Given the description of an element on the screen output the (x, y) to click on. 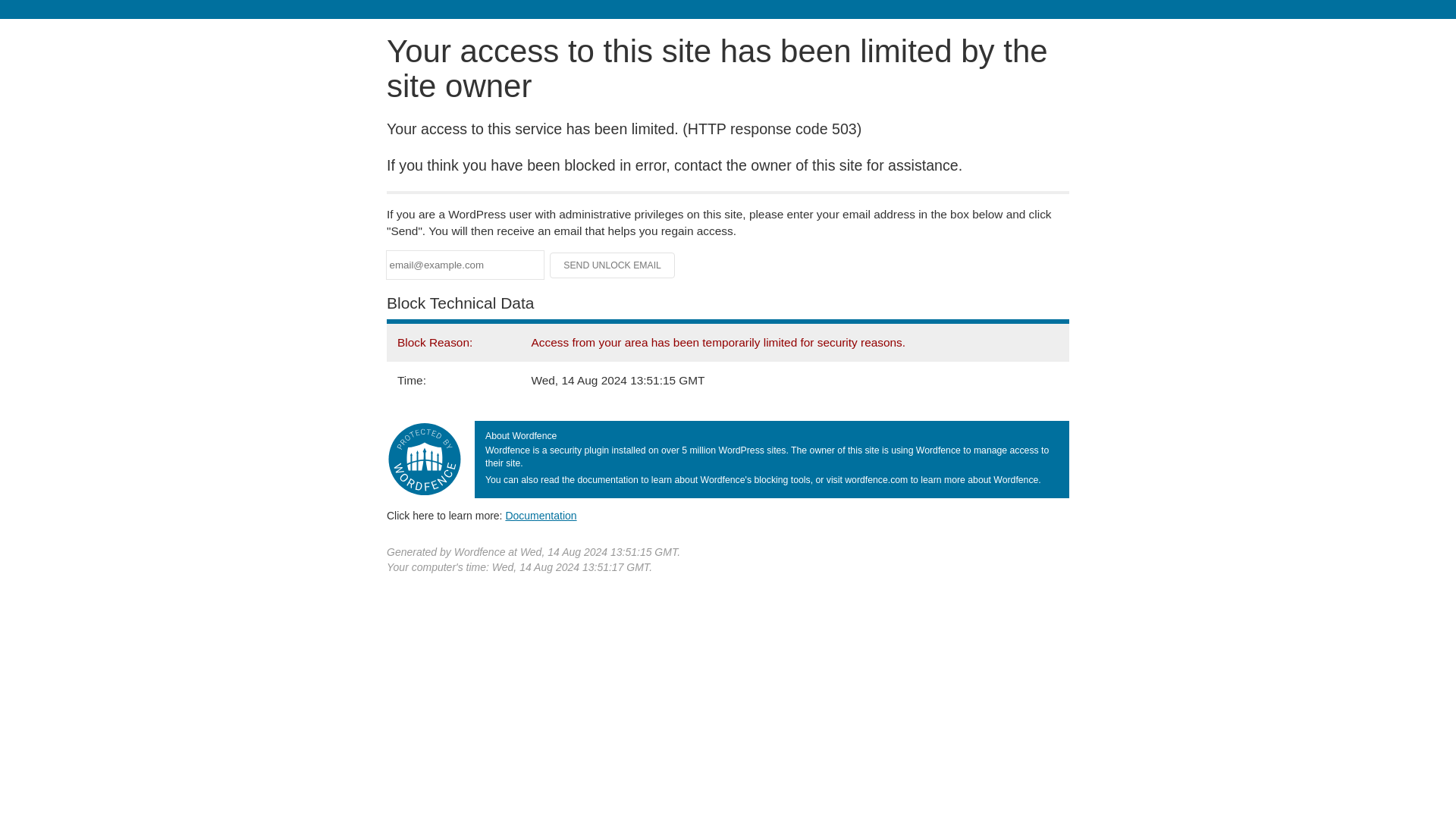
Documentation (540, 515)
Send Unlock Email (612, 265)
Send Unlock Email (612, 265)
